Given the description of an element on the screen output the (x, y) to click on. 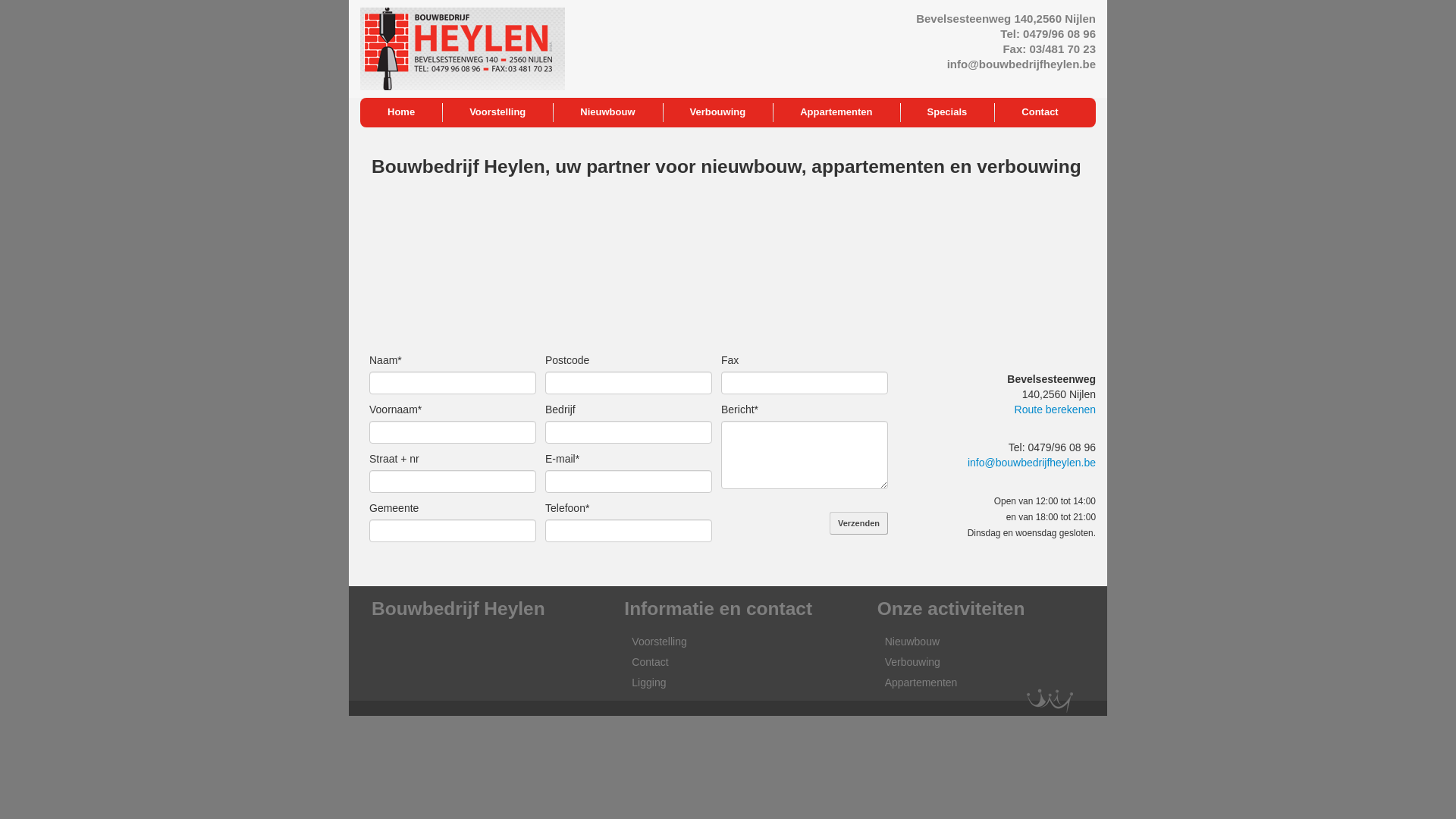
Contact Element type: text (1039, 111)
Nieuwbouw Element type: text (911, 641)
Contact Element type: text (649, 661)
Voorstelling Element type: text (658, 641)
Voorstelling Element type: text (497, 111)
Appartementen Element type: text (920, 682)
Route berekenen Element type: text (1054, 409)
Home Element type: text (401, 111)
Nieuwbouw Element type: text (607, 111)
Verbouwing Element type: text (717, 111)
Ligging Element type: text (648, 682)
Verzenden Element type: text (858, 522)
info@bouwbedrijfheylen.be Element type: text (1031, 462)
Appartementen Element type: text (835, 111)
Verbouwing Element type: text (912, 661)
Specials Element type: text (947, 111)
